Given the description of an element on the screen output the (x, y) to click on. 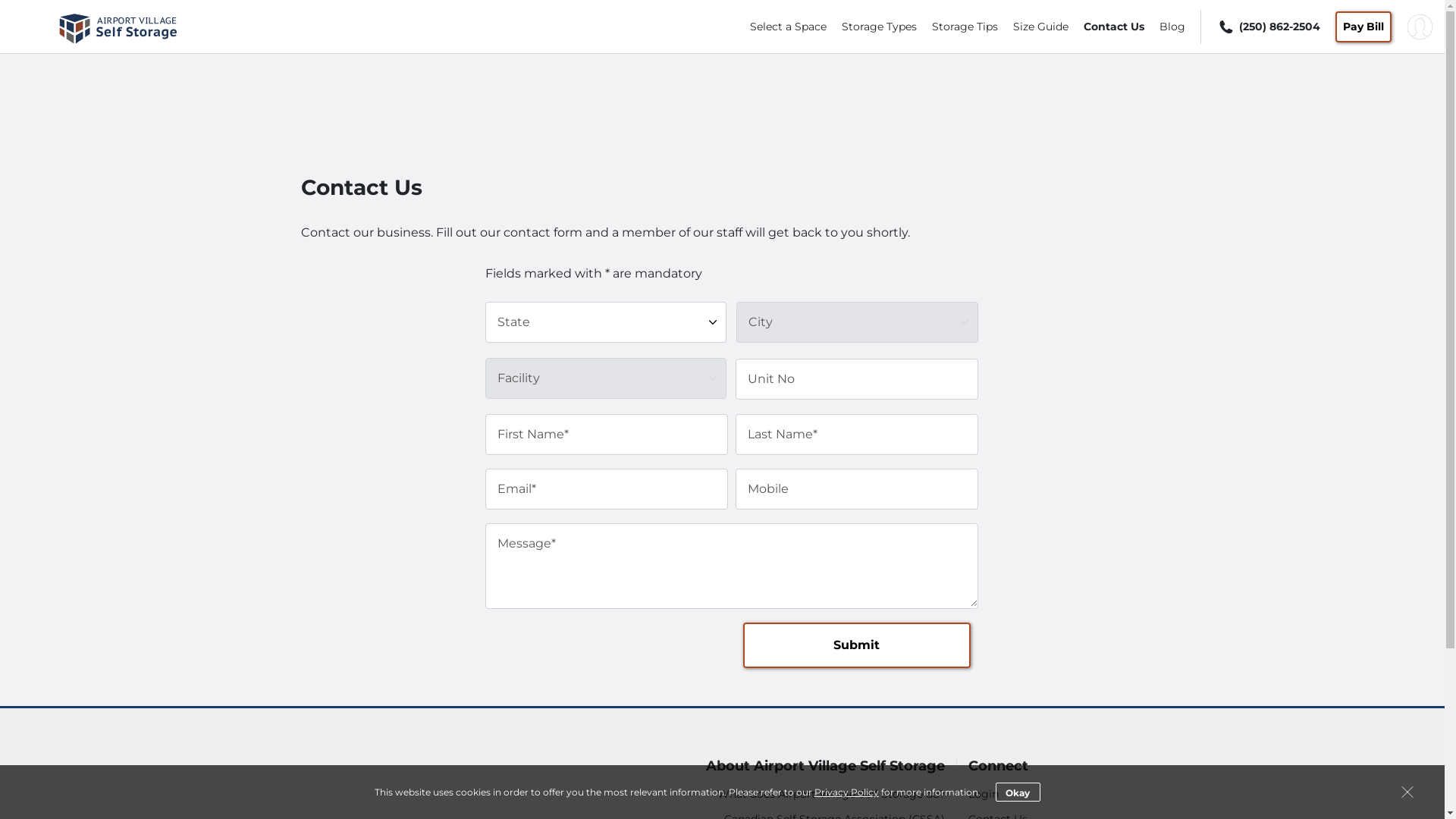
My account Element type: hover (1419, 25)
Size Guide Element type: text (1040, 26)
Pay Bill Element type: text (1363, 25)
Storage Types Element type: text (878, 26)
Privacy Policy Element type: text (846, 791)
Contact Us Element type: text (1113, 26)
Blog Element type: text (1172, 26)
Storage Tips Element type: text (964, 26)
What does Airport Village Self Storage do? Element type: text (799, 794)
Submit Element type: text (856, 645)
Airport Village Self Storage Element type: hover (118, 47)
Select a Space Element type: text (787, 26)
(250) 862-2504 Element type: text (1268, 26)
